Given the description of an element on the screen output the (x, y) to click on. 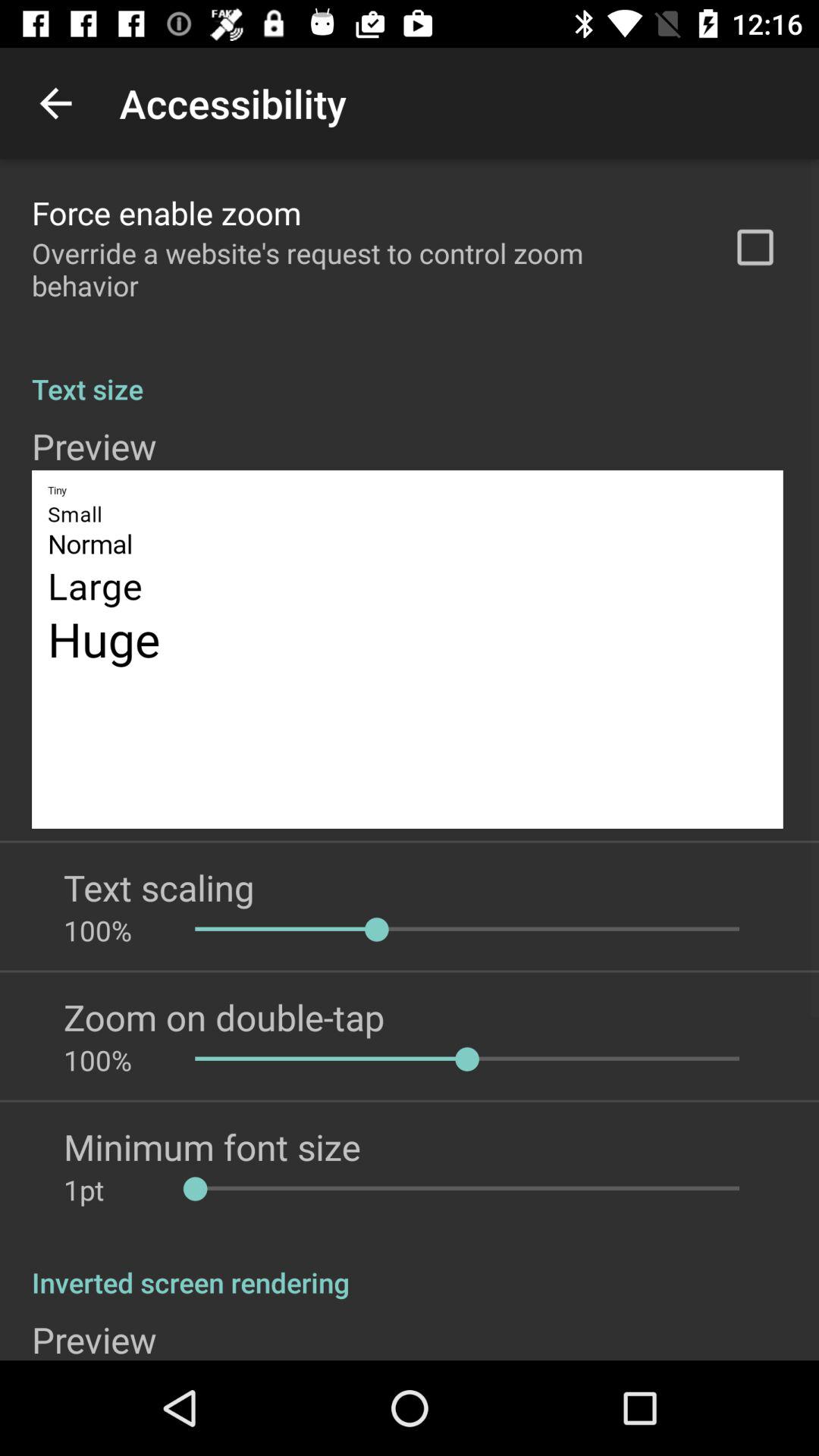
open the icon below override a website icon (409, 372)
